Given the description of an element on the screen output the (x, y) to click on. 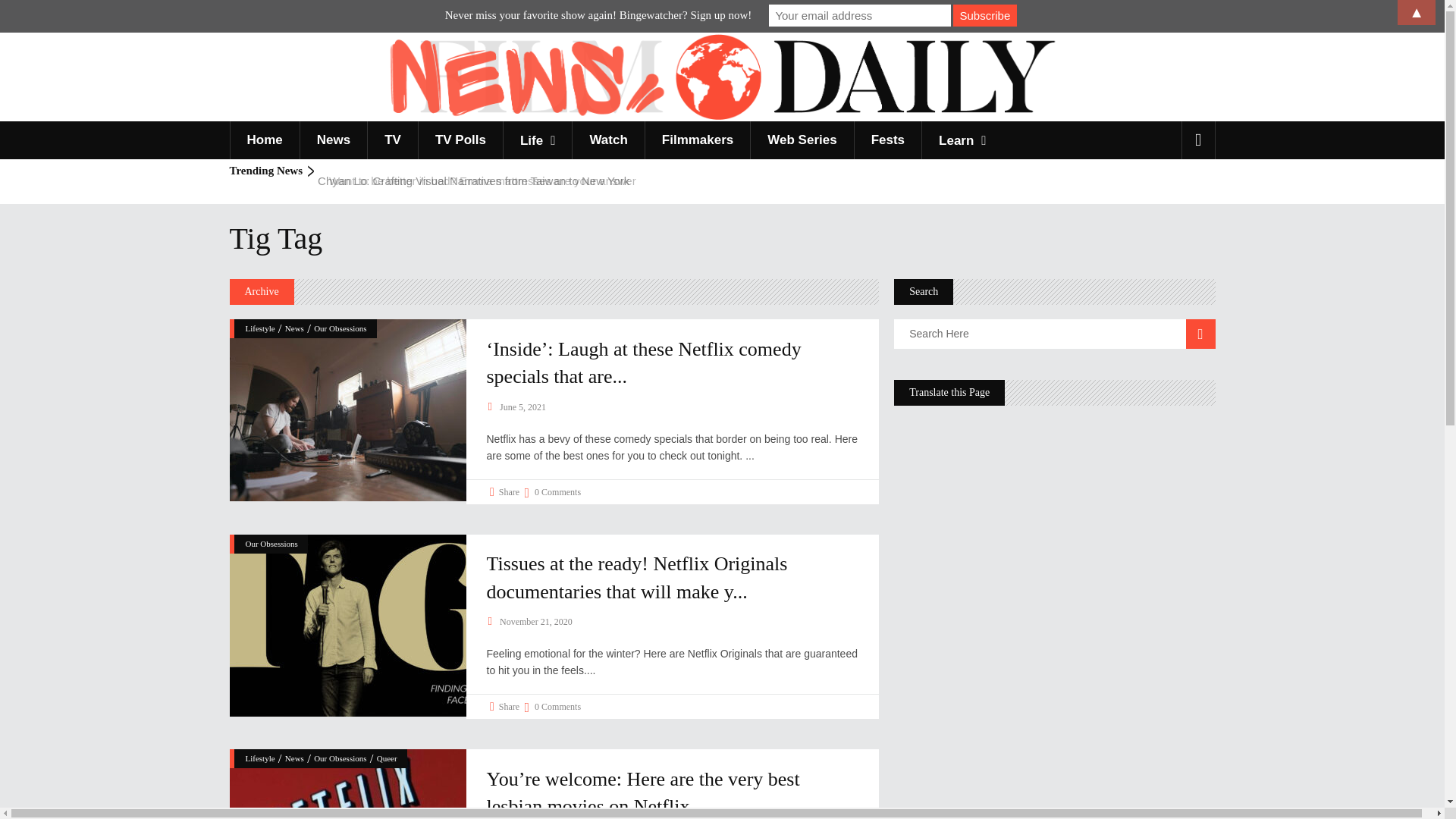
Filmmakers (698, 139)
Life (537, 139)
Fests (887, 139)
News (332, 139)
Subscribe (984, 15)
Web Series (801, 139)
Learn (962, 139)
Watch (607, 139)
Home (263, 139)
TV Polls (459, 139)
TV (391, 139)
